Given the description of an element on the screen output the (x, y) to click on. 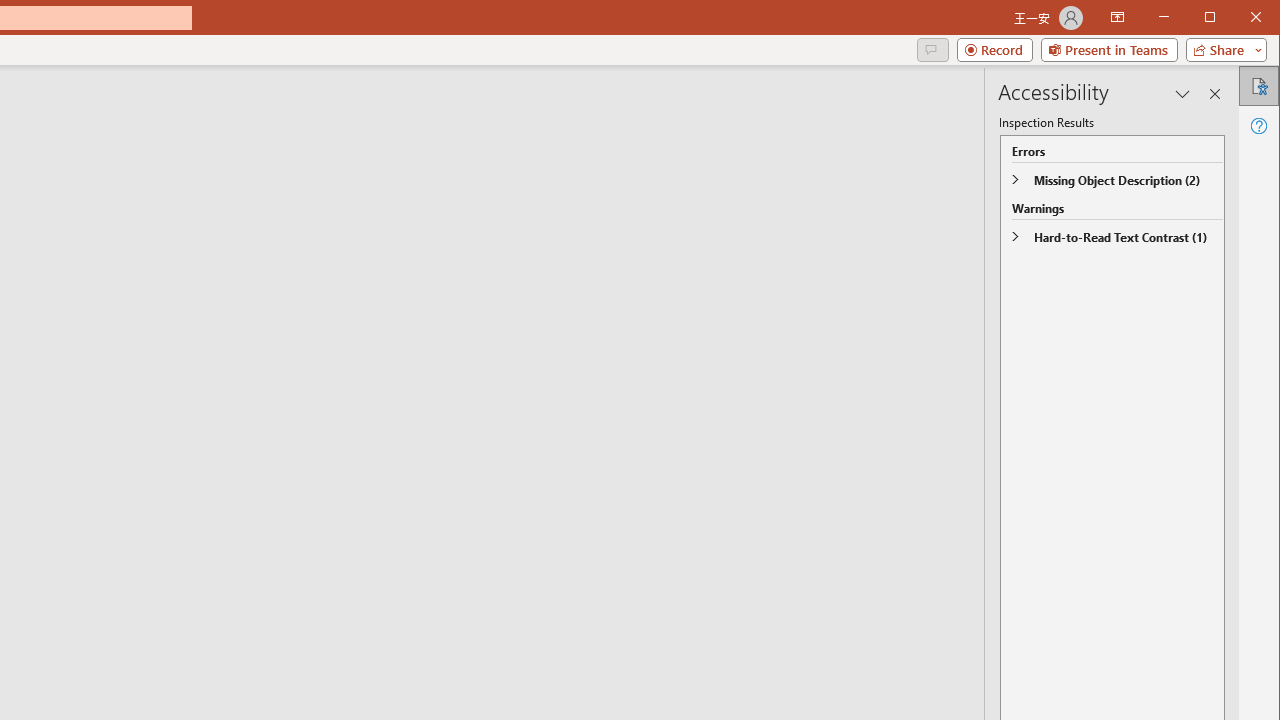
Maximize (1238, 18)
